Given the description of an element on the screen output the (x, y) to click on. 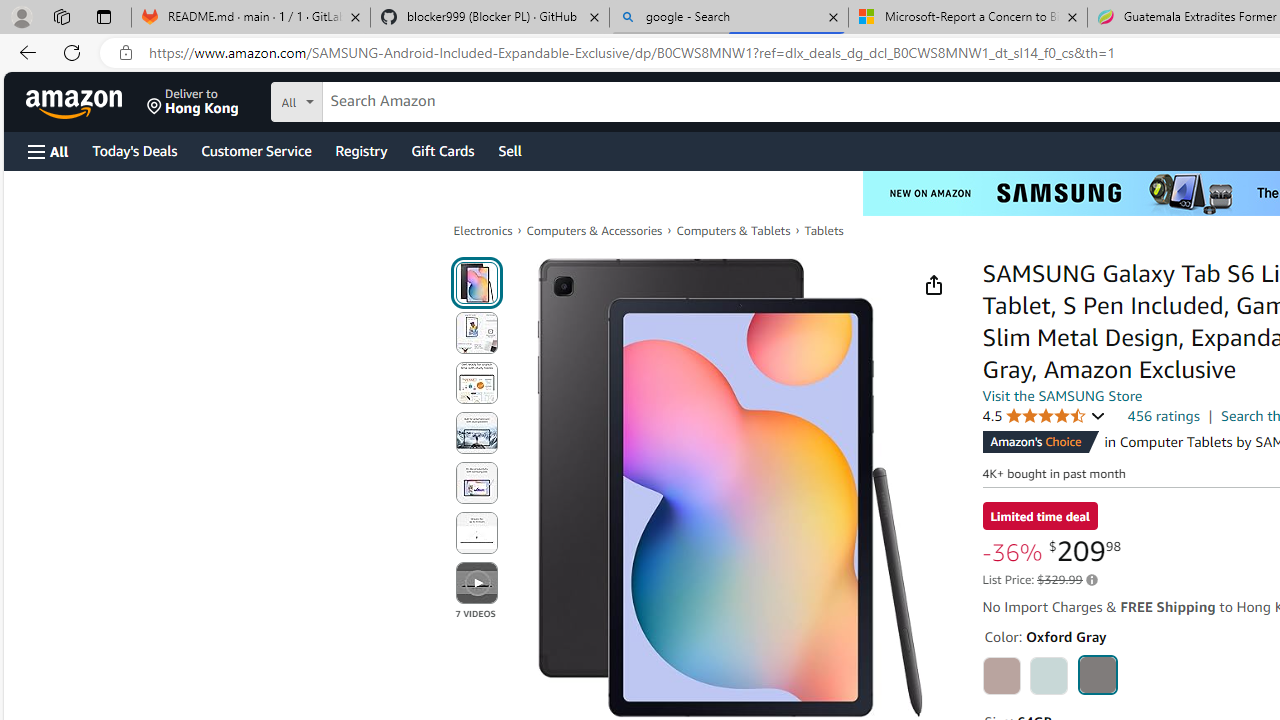
Computers & Accessories (594, 230)
Skip to main content (86, 100)
Sell (509, 150)
Mint (1048, 676)
Customer Service (256, 150)
Computers & Tablets (733, 230)
Registry (360, 150)
Chiffon Pink (1001, 676)
Learn more about Amazon pricing and savings (1091, 579)
